Given the description of an element on the screen output the (x, y) to click on. 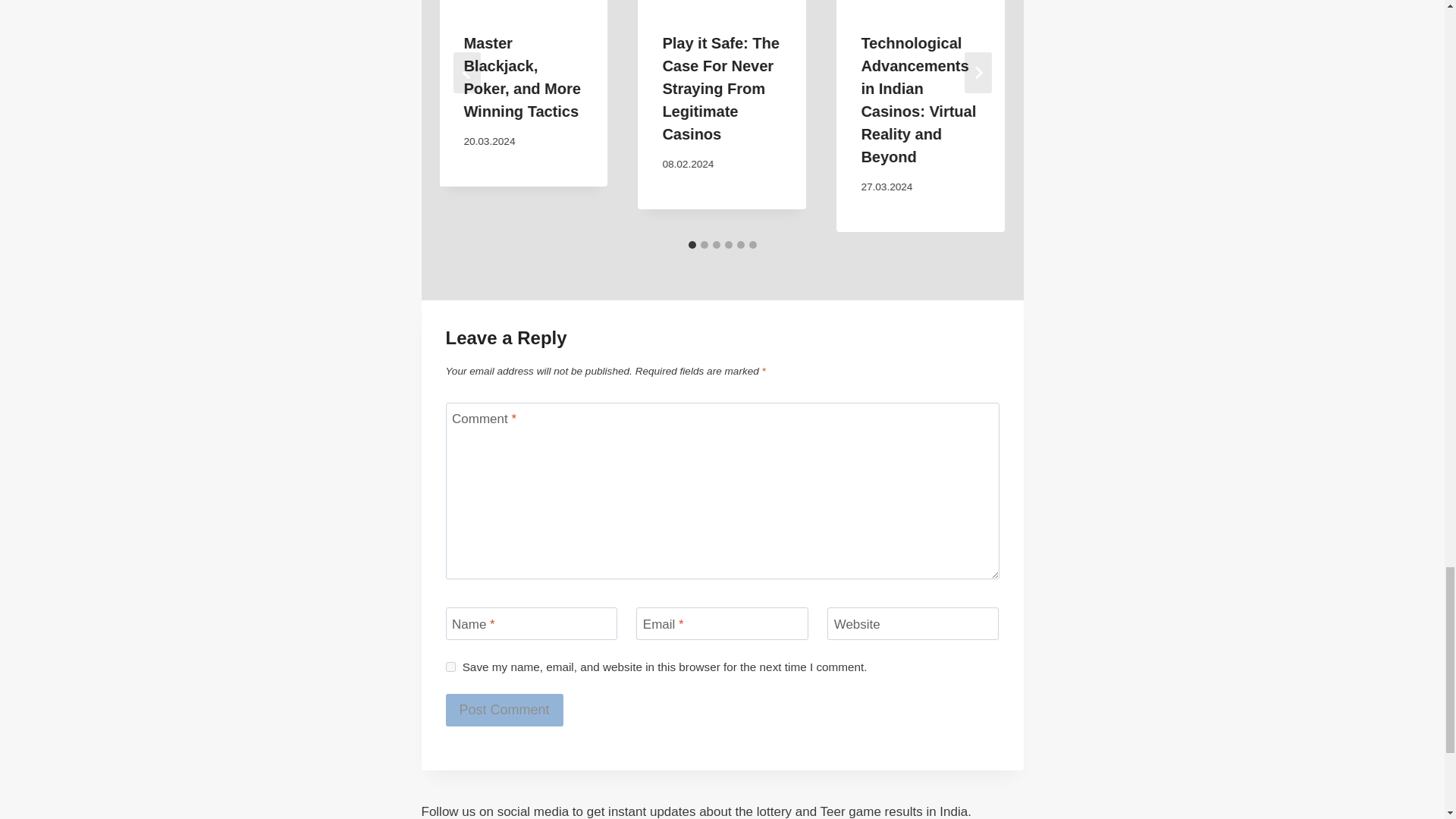
Post Comment (504, 709)
yes (450, 666)
